Given the description of an element on the screen output the (x, y) to click on. 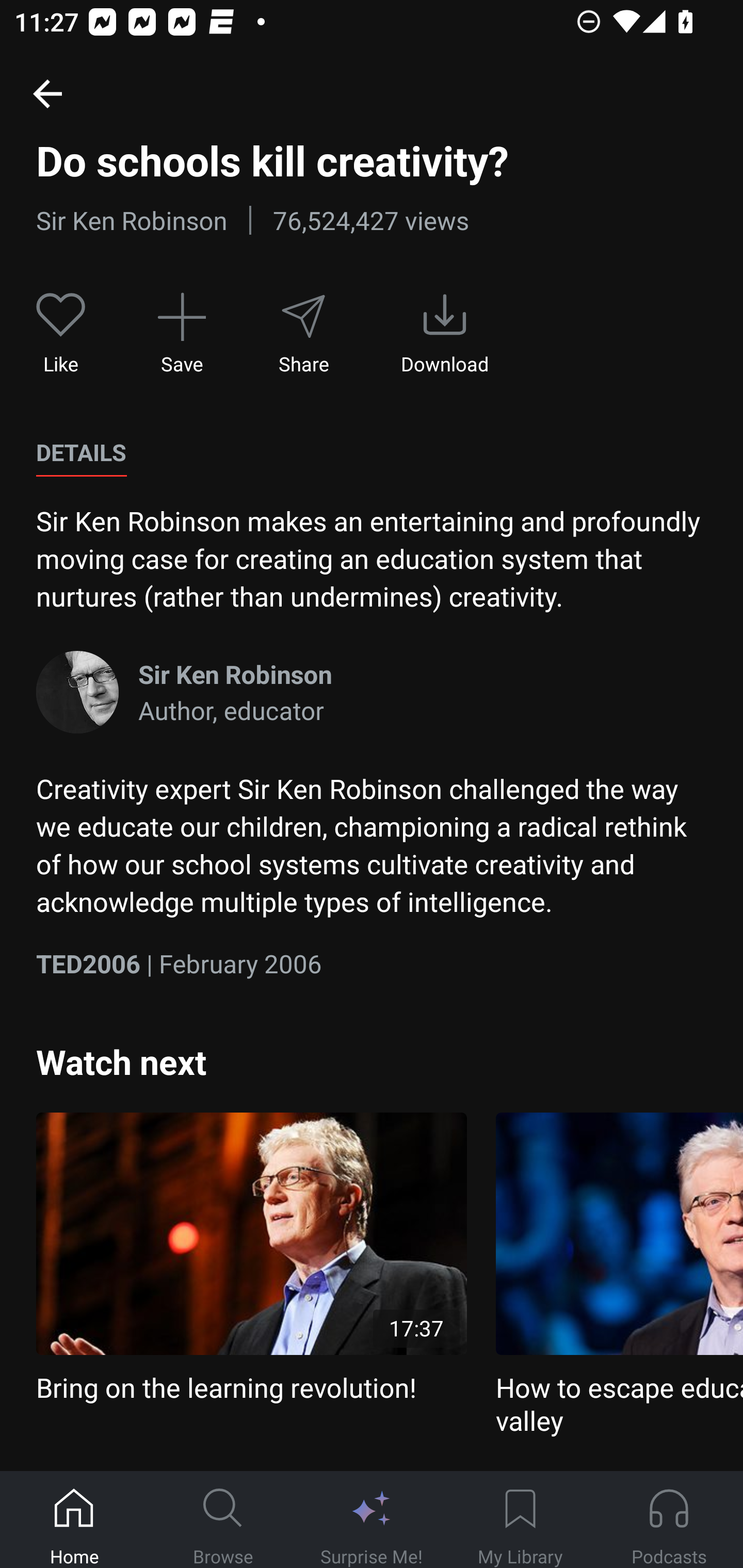
Go back (47, 92)
Like (60, 333)
Save (181, 333)
Share (302, 333)
Download (444, 333)
DETAILS (80, 452)
17:37 Bring on the learning revolution! (251, 1258)
How to escape education's death valley (619, 1275)
Home (74, 1520)
Browse (222, 1520)
Surprise Me! (371, 1520)
My Library (519, 1520)
Podcasts (668, 1520)
